Given the description of an element on the screen output the (x, y) to click on. 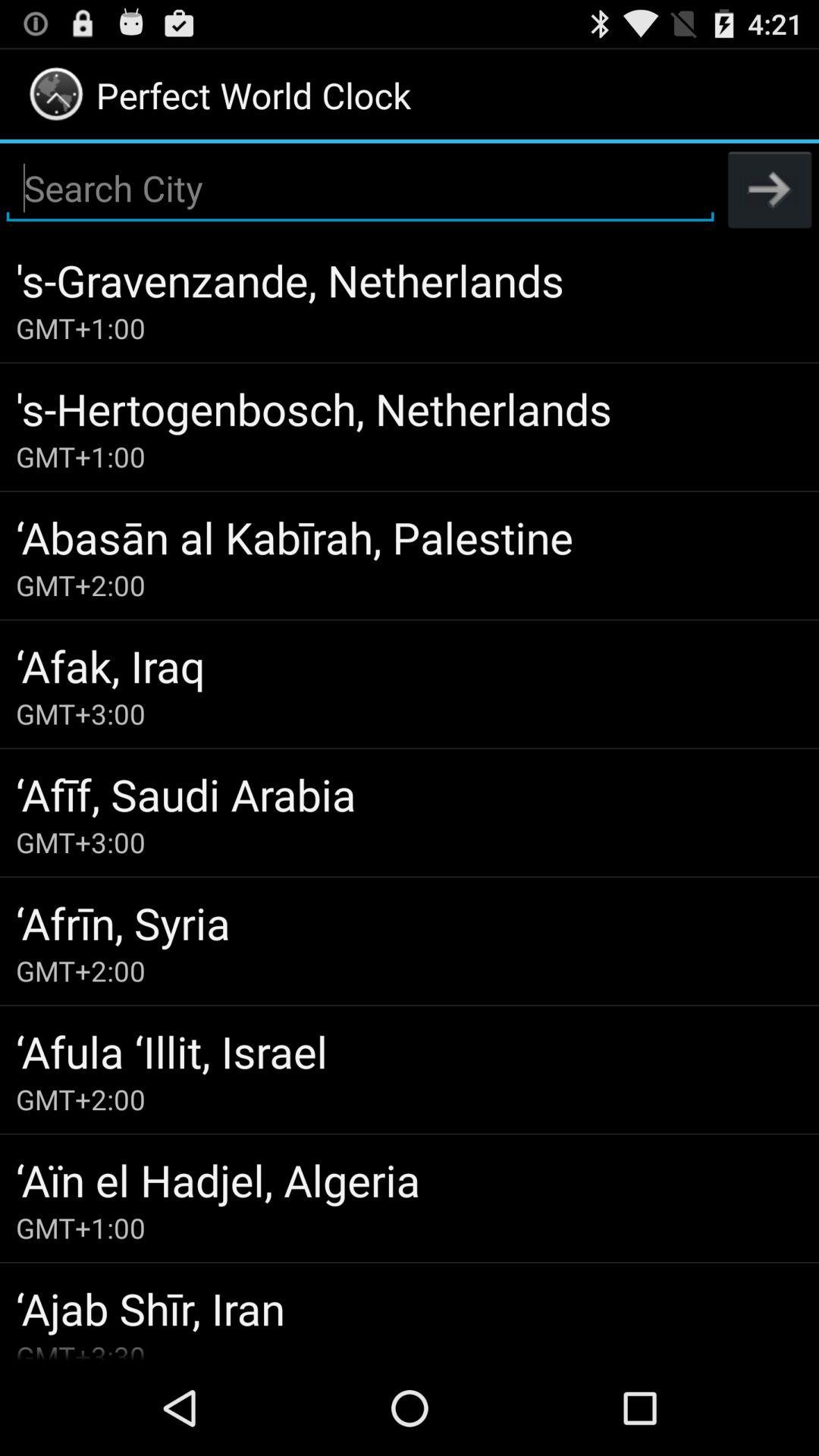
choose icon below the gmt+3:00 (409, 793)
